Given the description of an element on the screen output the (x, y) to click on. 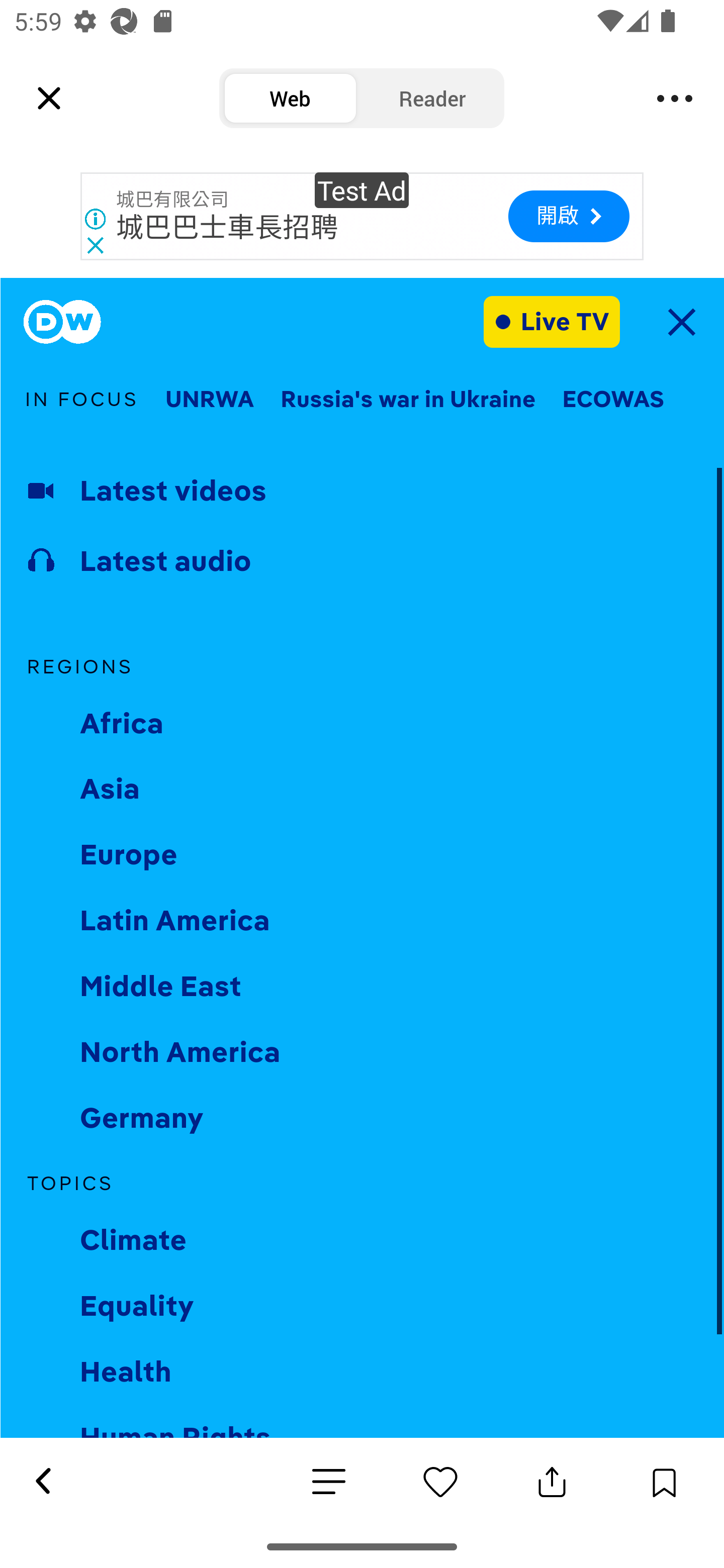
Reader (432, 98)
Menu (674, 98)
Leading Icon (49, 98)
城巴有限公司 (172, 199)
開啟 (568, 216)
城巴巴士車長招聘 (226, 227)
Close main navigation (681, 322)
Live TV (551, 321)
dw.com home - Made for minds (61, 321)
UNRWA (209, 399)
Russia's war in Ukraine (408, 399)
ECOWAS (613, 399)
Back Button (42, 1481)
News Detail Emotion (440, 1481)
Share Button (551, 1481)
Save Button (663, 1481)
News Detail Emotion (329, 1482)
